Given the description of an element on the screen output the (x, y) to click on. 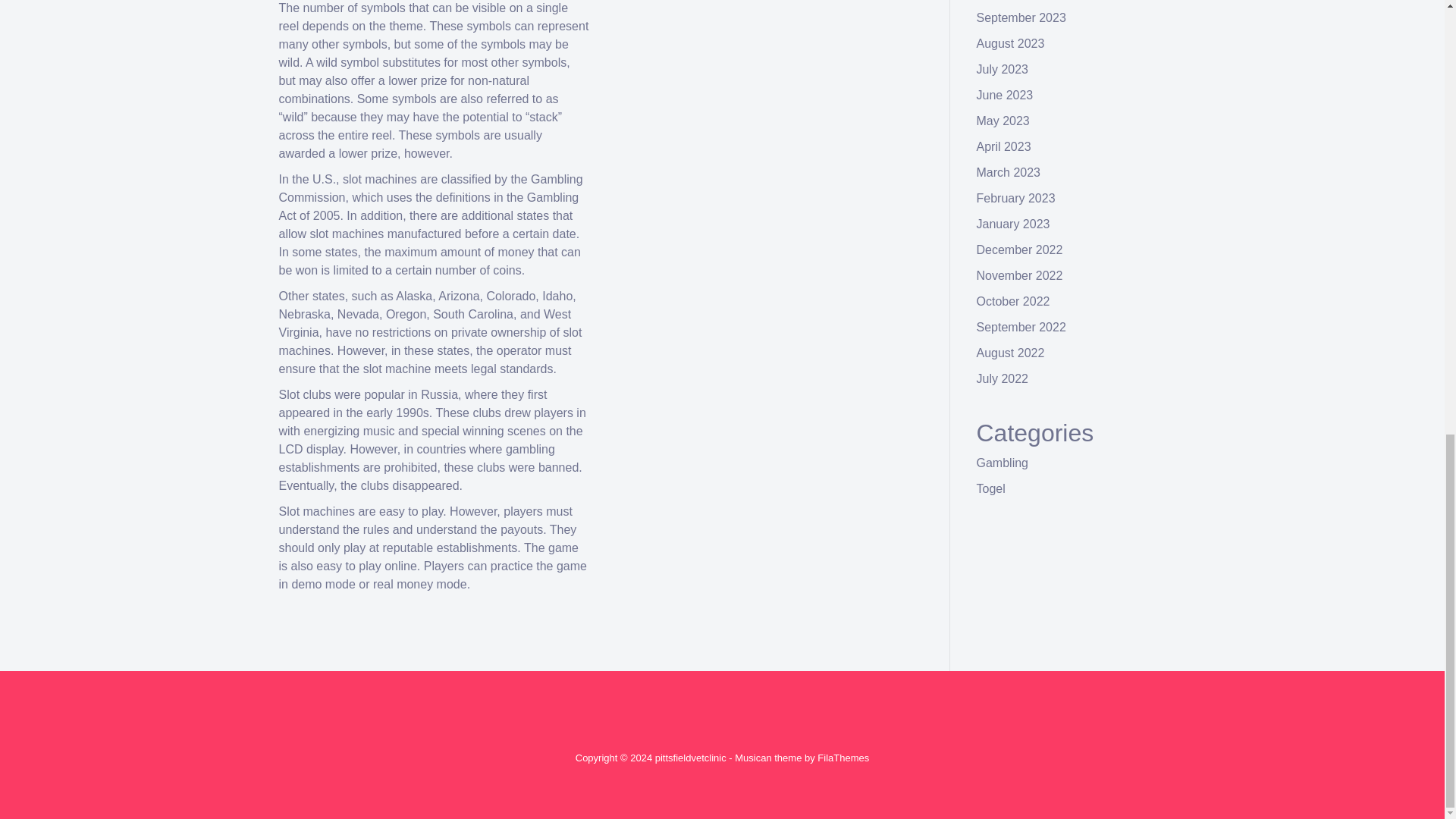
pittsfieldvetclinic (690, 757)
June 2023 (1004, 94)
January 2023 (1012, 223)
May 2023 (1002, 120)
April 2023 (1003, 146)
September 2023 (1020, 17)
July 2023 (1002, 69)
August 2023 (1010, 42)
March 2023 (1008, 172)
February 2023 (1015, 197)
December 2022 (1019, 249)
November 2022 (1019, 275)
